Given the description of an element on the screen output the (x, y) to click on. 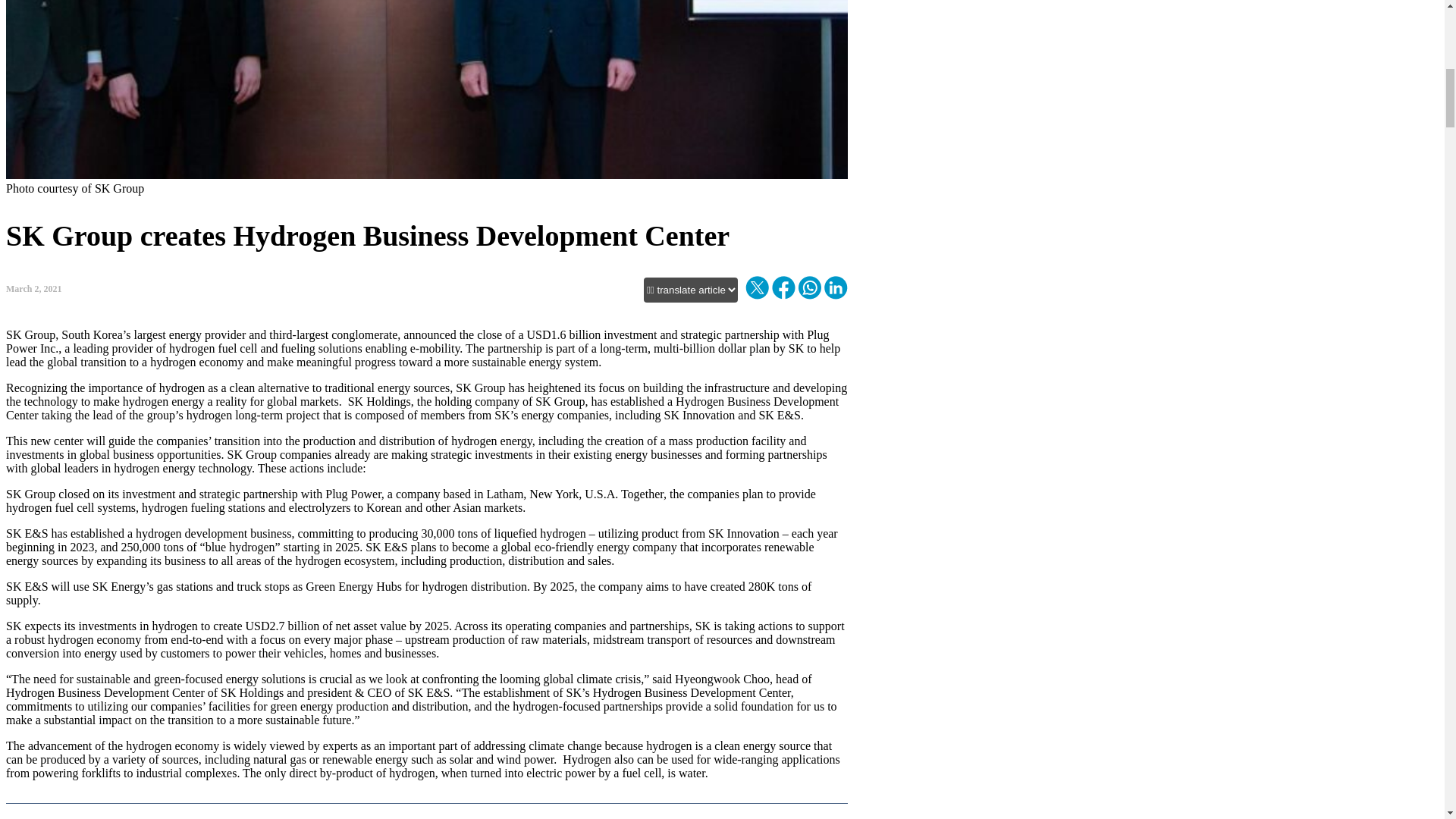
March 2, 2021 (33, 246)
